Given the description of an element on the screen output the (x, y) to click on. 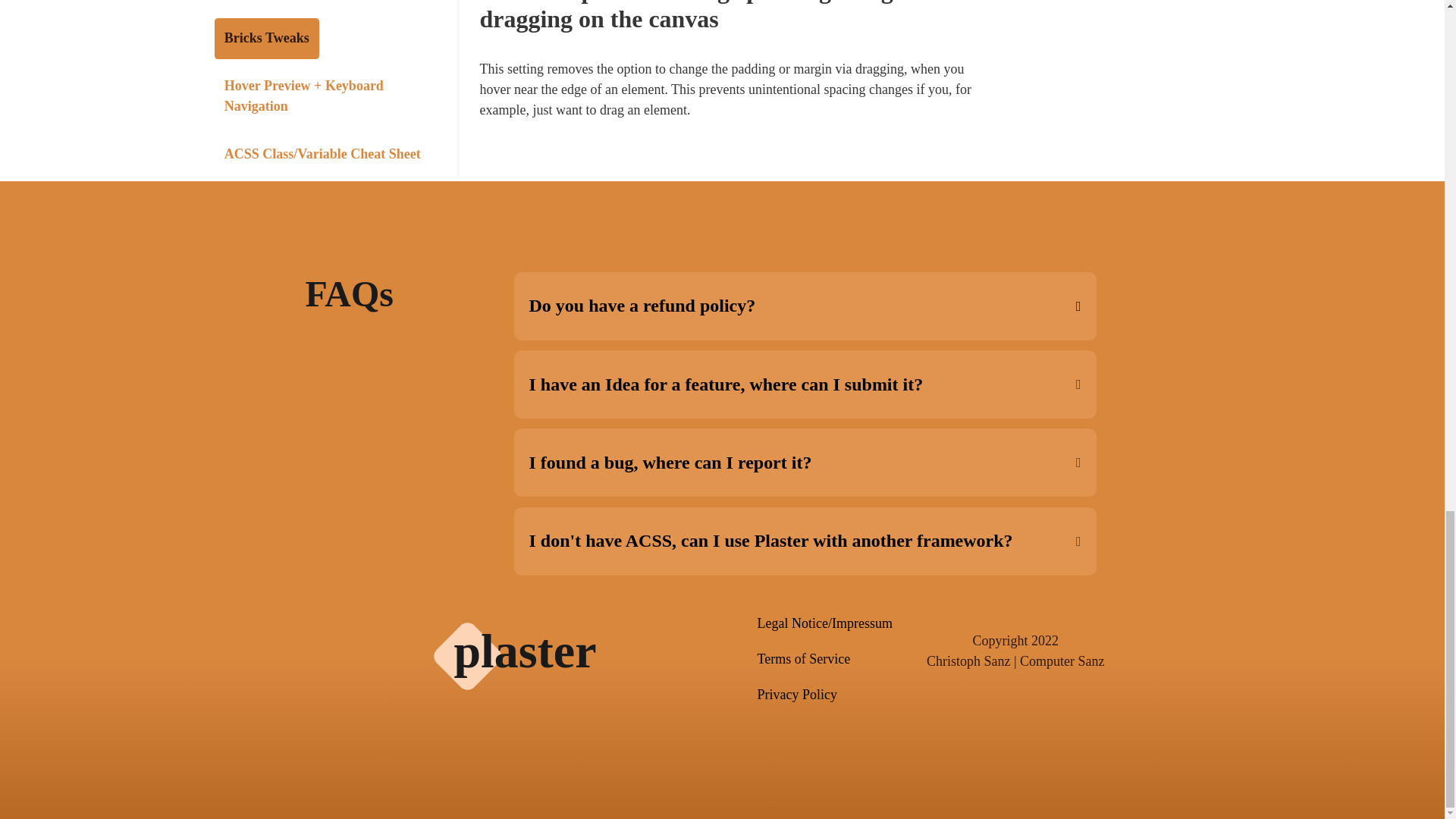
plaster (523, 651)
Terms of Service (824, 659)
Privacy Policy (824, 694)
